Given the description of an element on the screen output the (x, y) to click on. 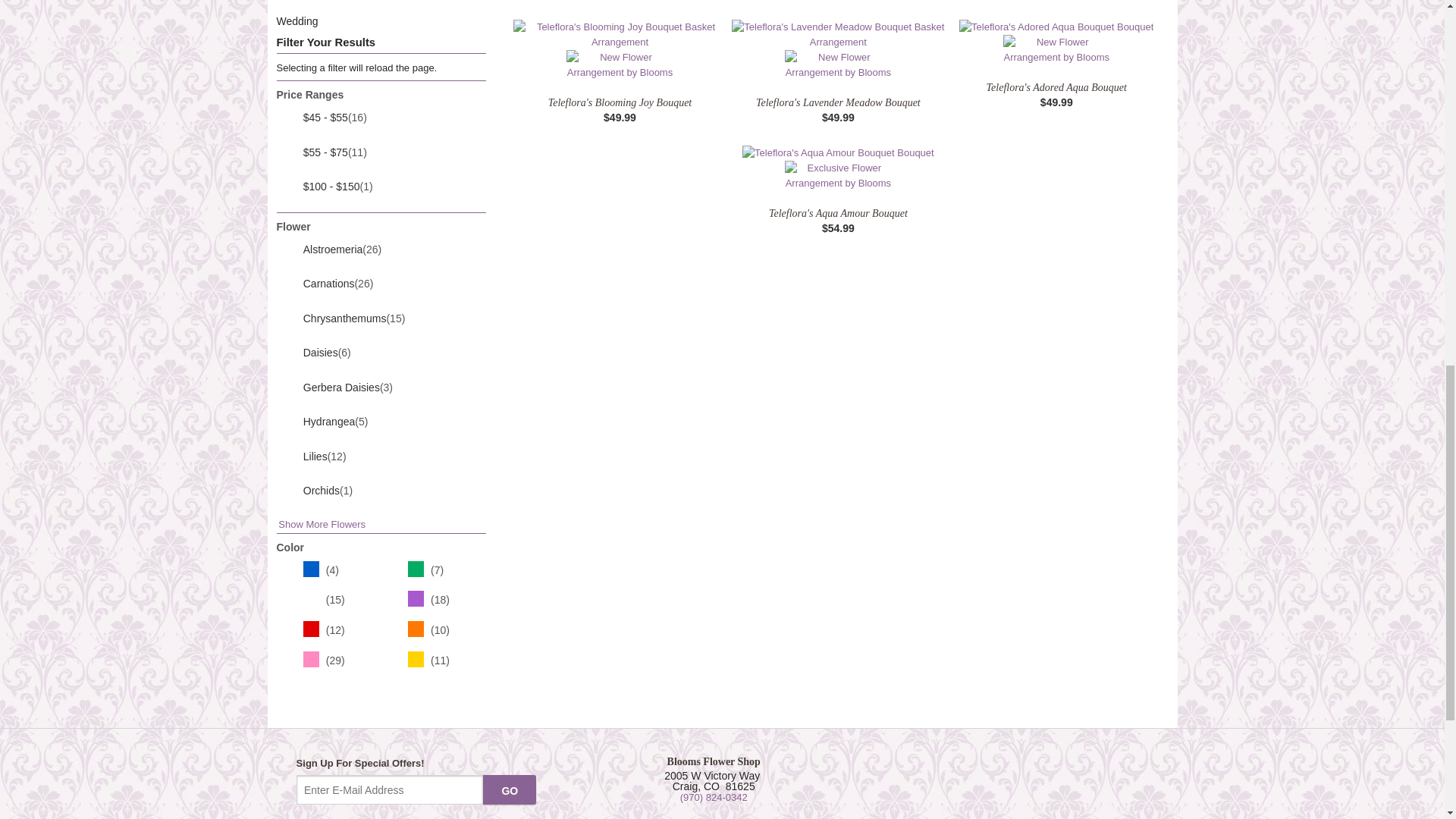
go (509, 789)
Go (509, 789)
Email Sign up (390, 789)
